Given the description of an element on the screen output the (x, y) to click on. 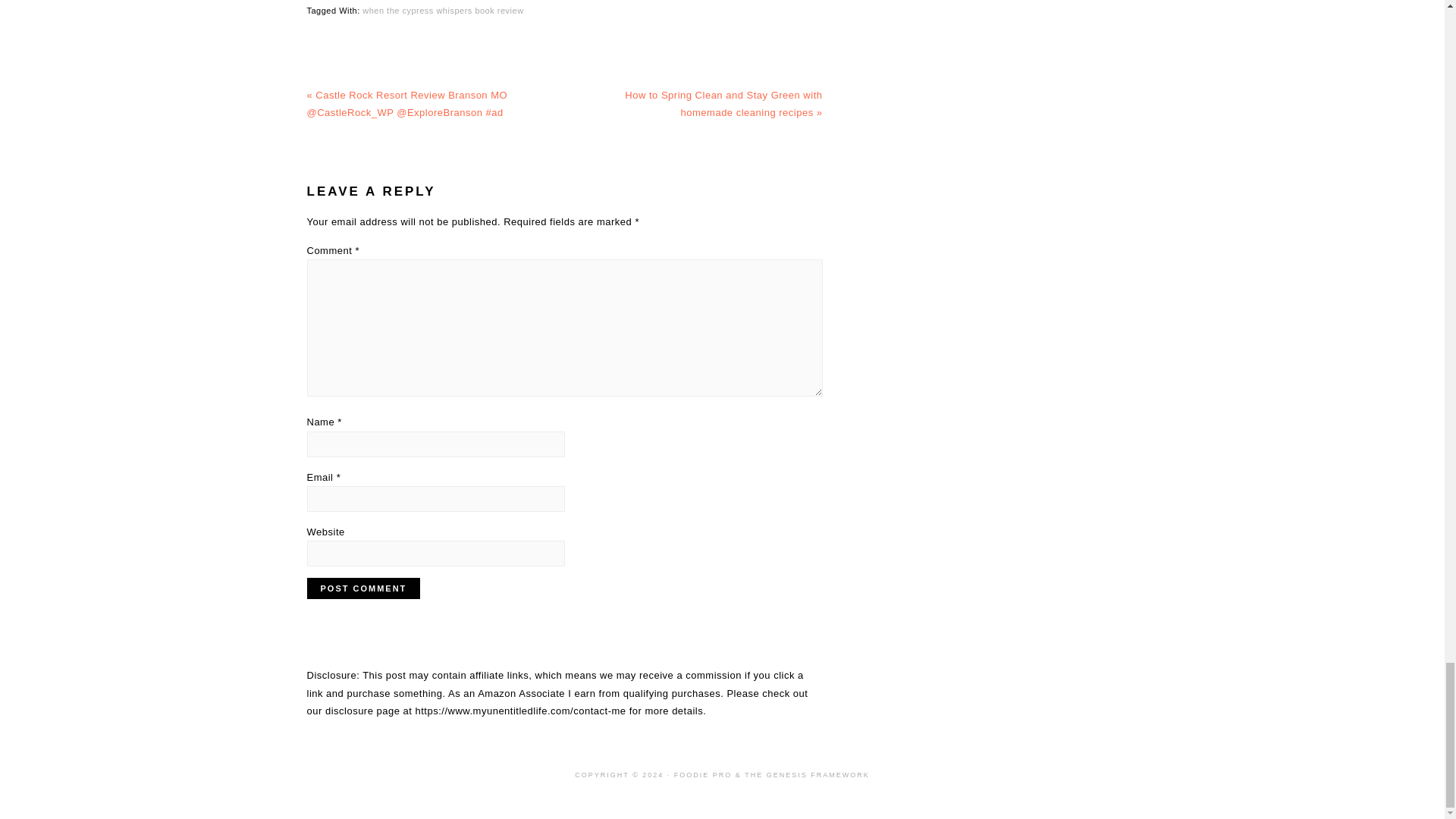
Post Comment (362, 588)
